Given the description of an element on the screen output the (x, y) to click on. 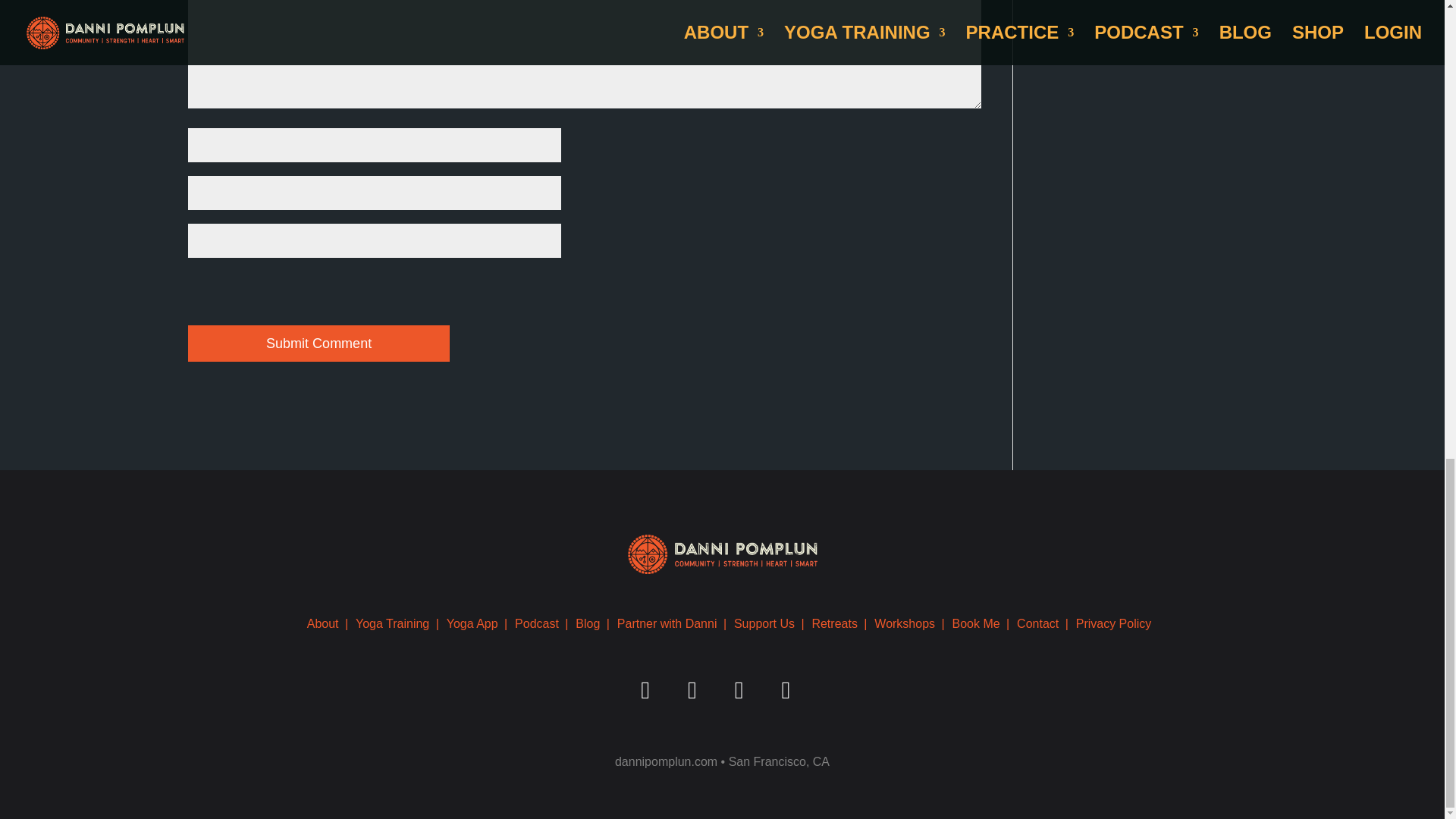
Submit Comment (318, 343)
